Given the description of an element on the screen output the (x, y) to click on. 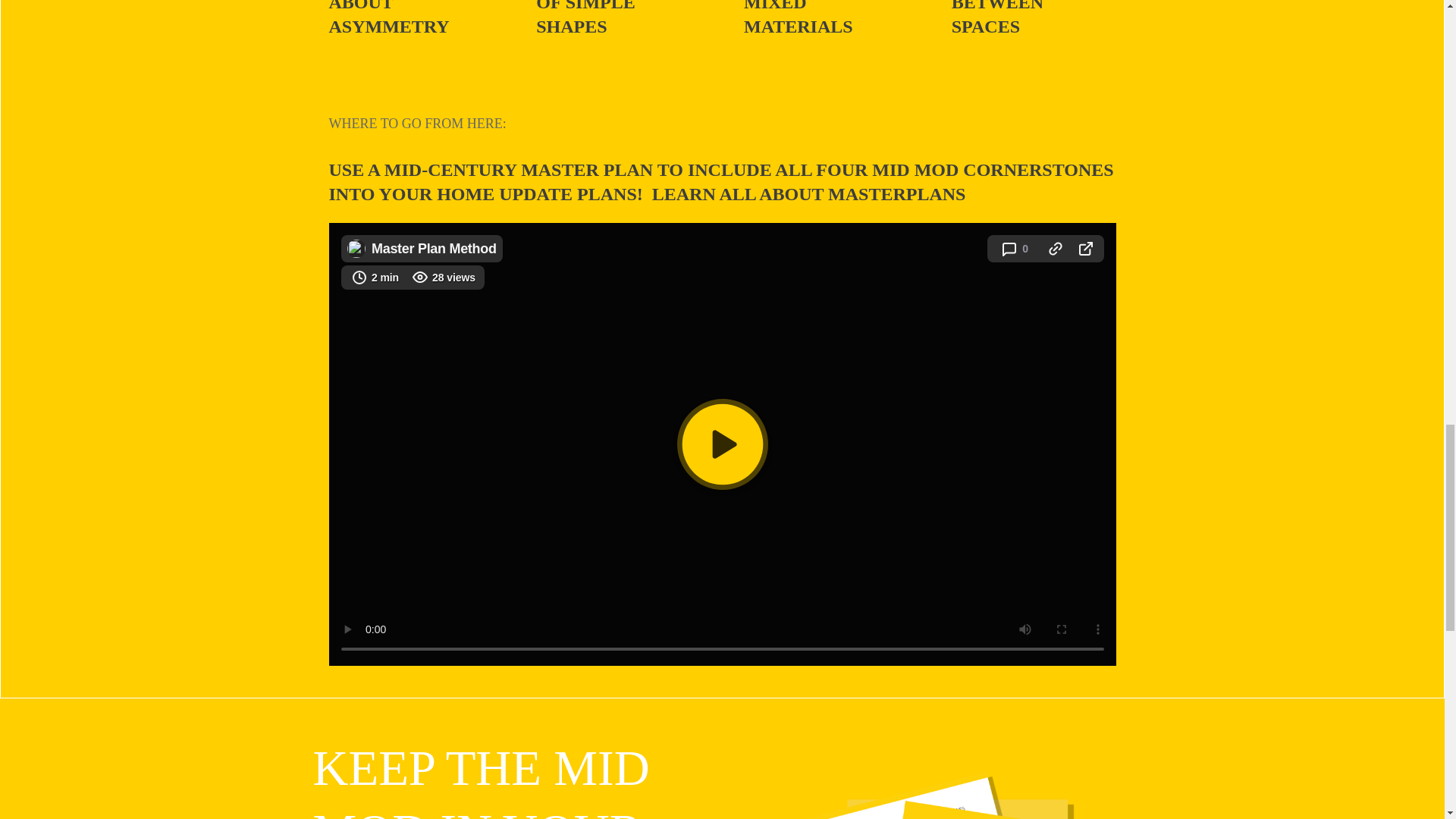
LEARN ALL ABOUT MASTERPLANS (809, 193)
cornerstone cover images (951, 785)
